Given the description of an element on the screen output the (x, y) to click on. 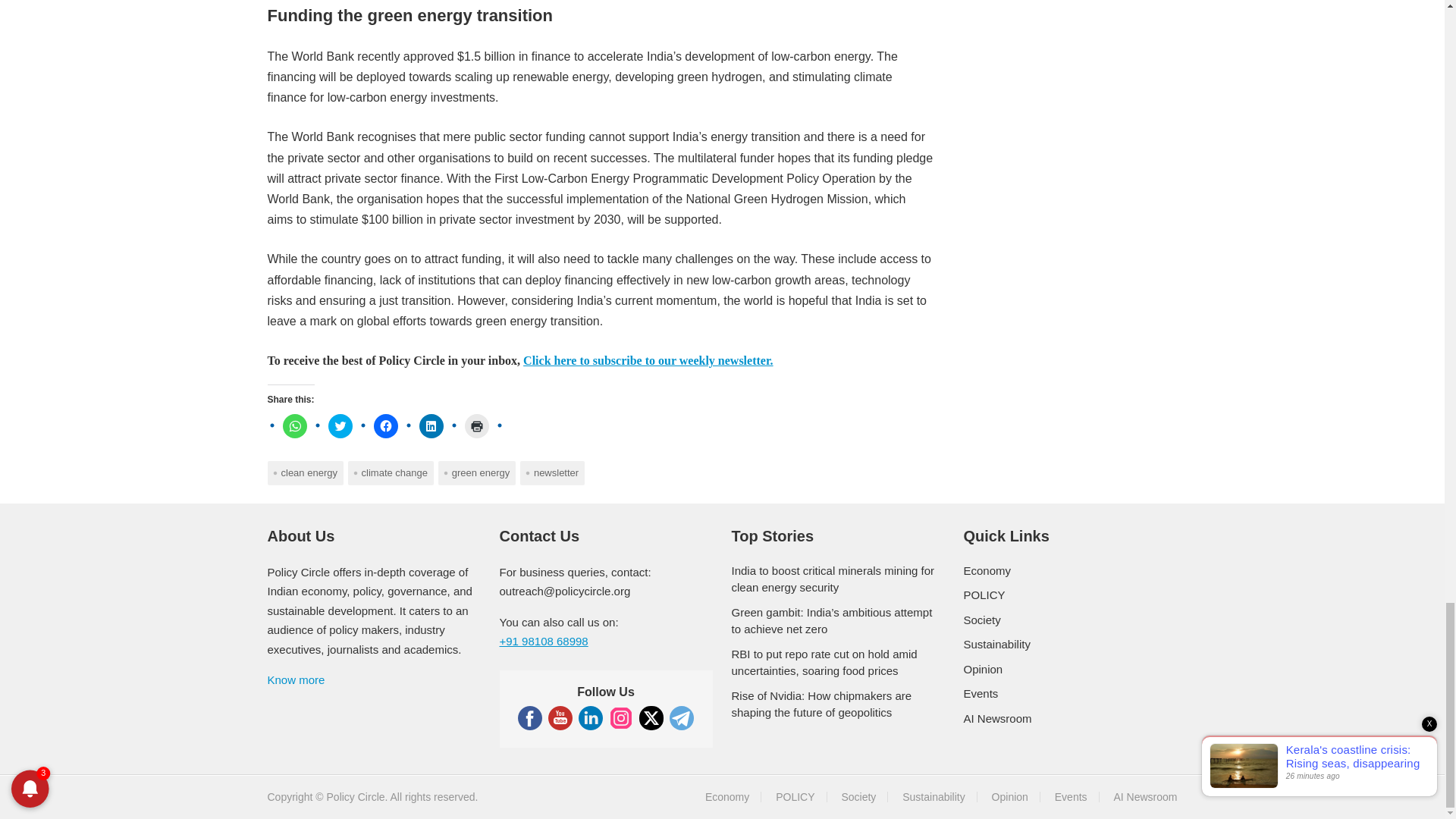
Click to print (475, 426)
Click to share on LinkedIn (430, 426)
Click to share on Facebook (384, 426)
Click to share on WhatsApp (293, 426)
Click to share on Twitter (339, 426)
